Given the description of an element on the screen output the (x, y) to click on. 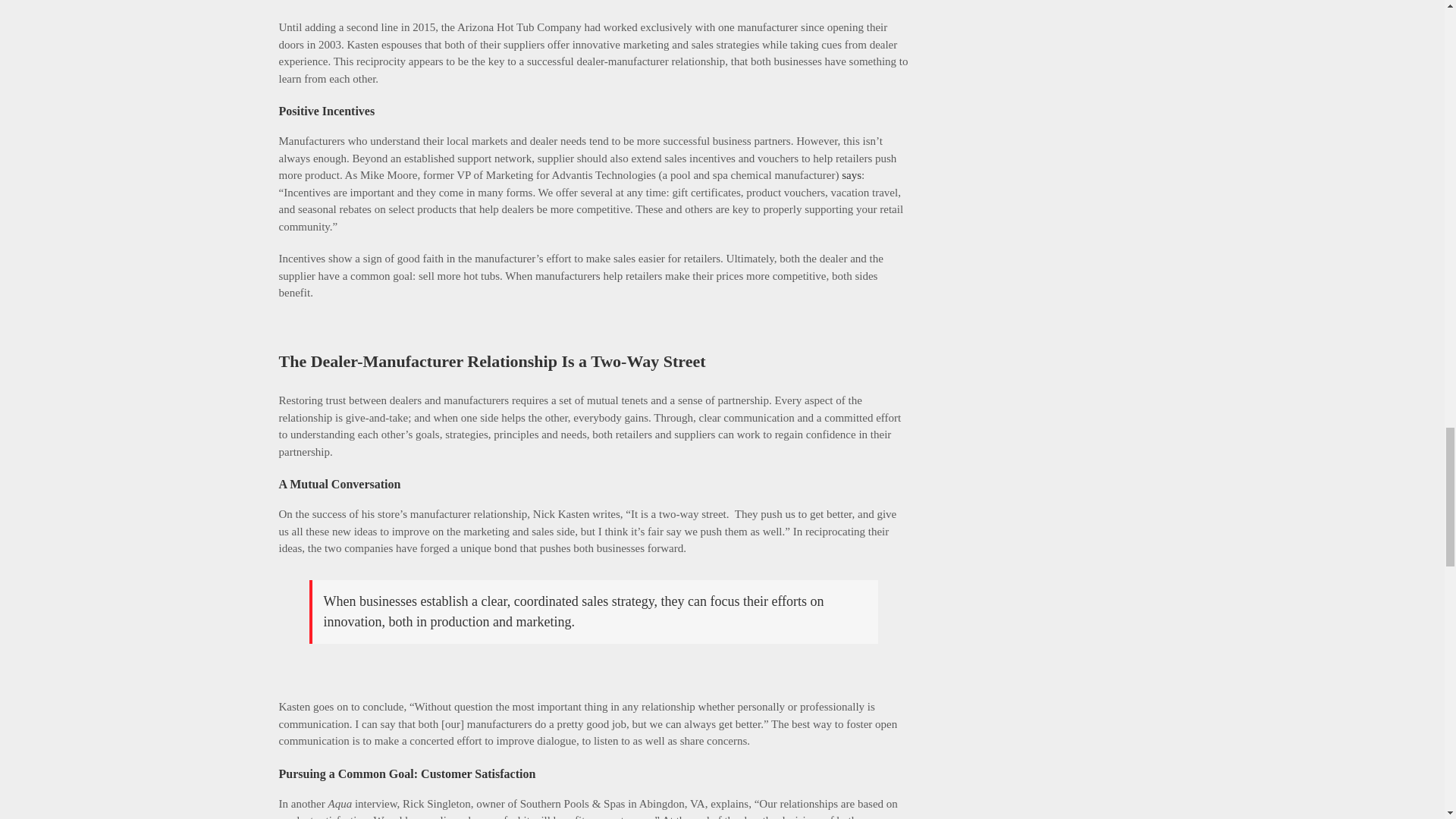
says (851, 174)
